Given the description of an element on the screen output the (x, y) to click on. 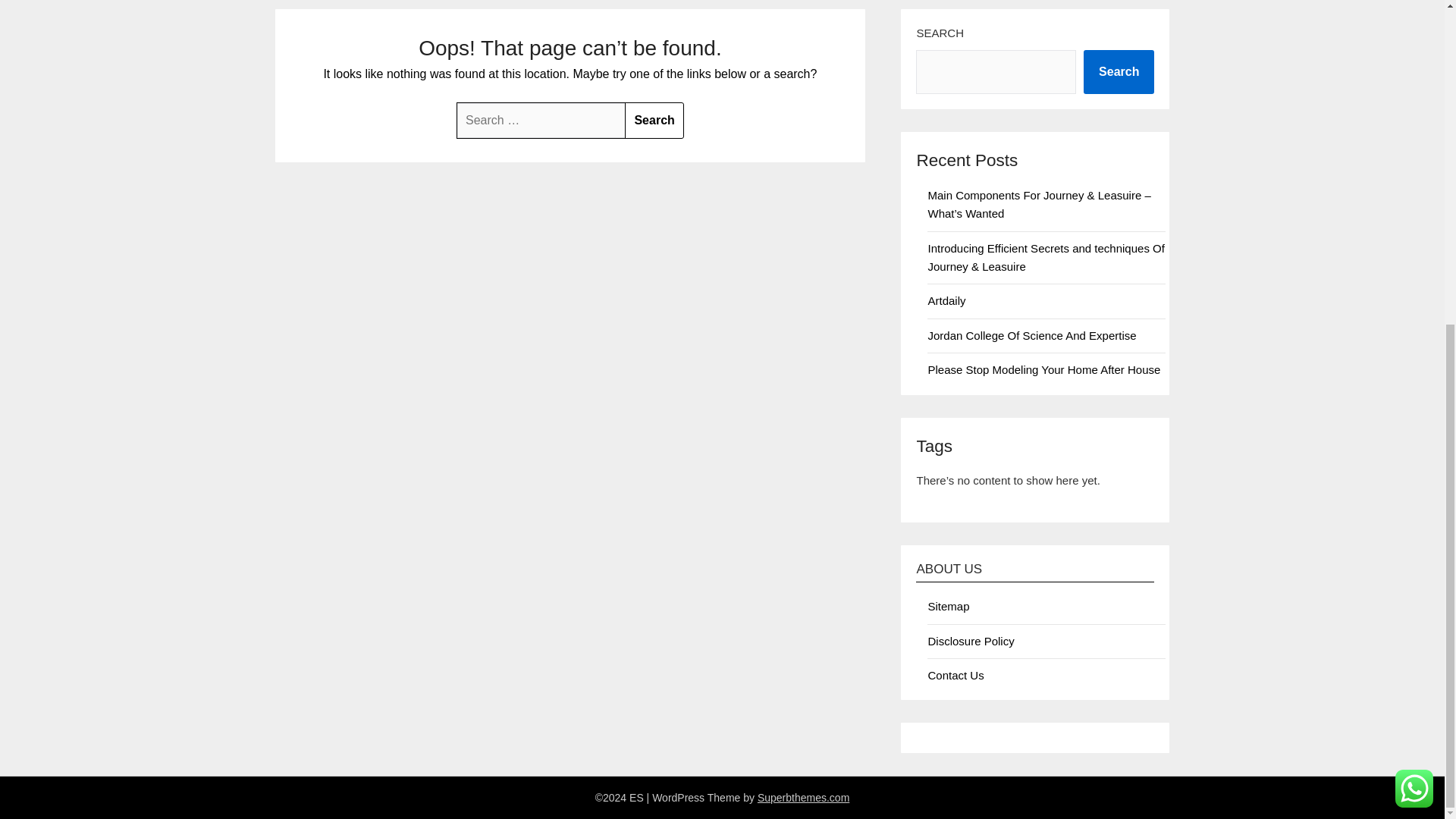
Please Stop Modeling Your Home After House (1043, 369)
Jordan College Of Science And Expertise (1031, 335)
Sitemap (948, 605)
Disclosure Policy (970, 640)
Search (653, 120)
Artdaily (946, 300)
Superbthemes.com (802, 797)
Search (1118, 71)
Search (653, 120)
Search (653, 120)
